Given the description of an element on the screen output the (x, y) to click on. 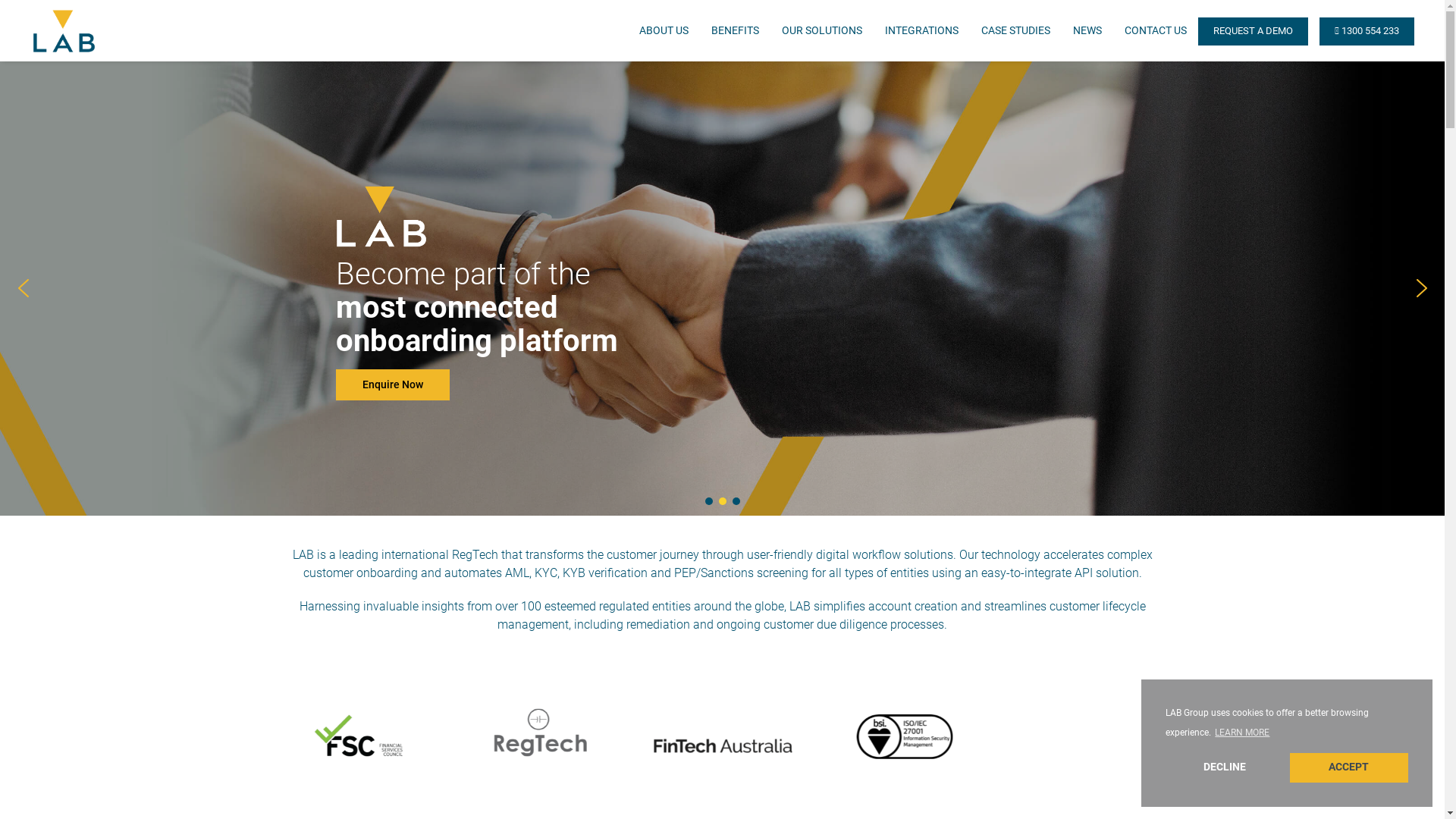
DECLINE Element type: text (1224, 767)
CONTACT US Element type: text (1155, 30)
ABOUT US Element type: text (663, 30)
ACCEPT Element type: text (1348, 767)
CASE STUDIES Element type: text (1015, 30)
REQUEST A DEMO Element type: text (1253, 31)
INTEGRATIONS Element type: text (921, 30)
LEARN MORE Element type: text (1242, 732)
OUR SOLUTIONS Element type: text (821, 30)
Enquire Now Element type: text (391, 384)
BENEFITS Element type: text (734, 30)
NEWS Element type: text (1087, 30)
